Given the description of an element on the screen output the (x, y) to click on. 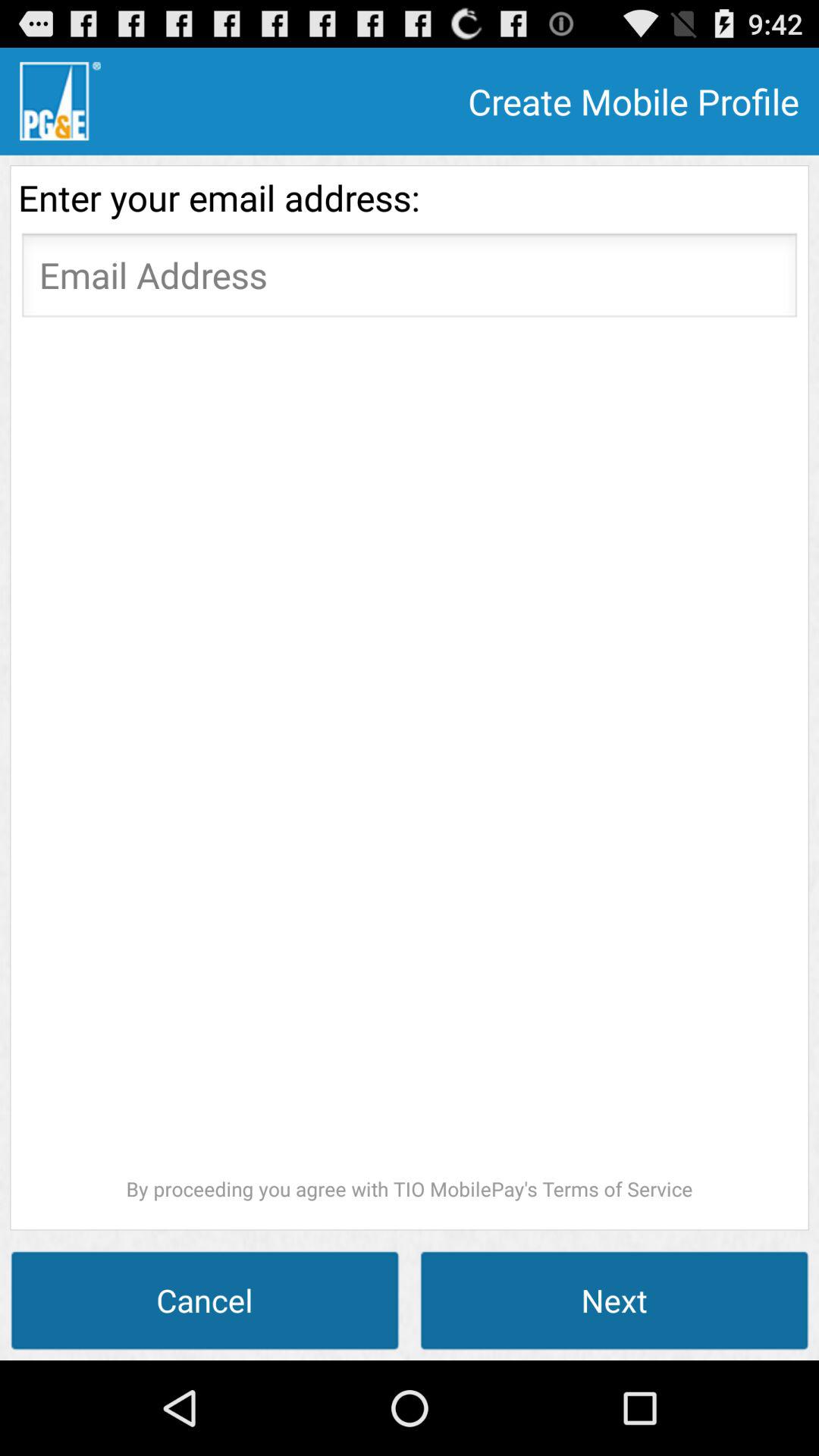
turn off the by proceeding you app (409, 764)
